Given the description of an element on the screen output the (x, y) to click on. 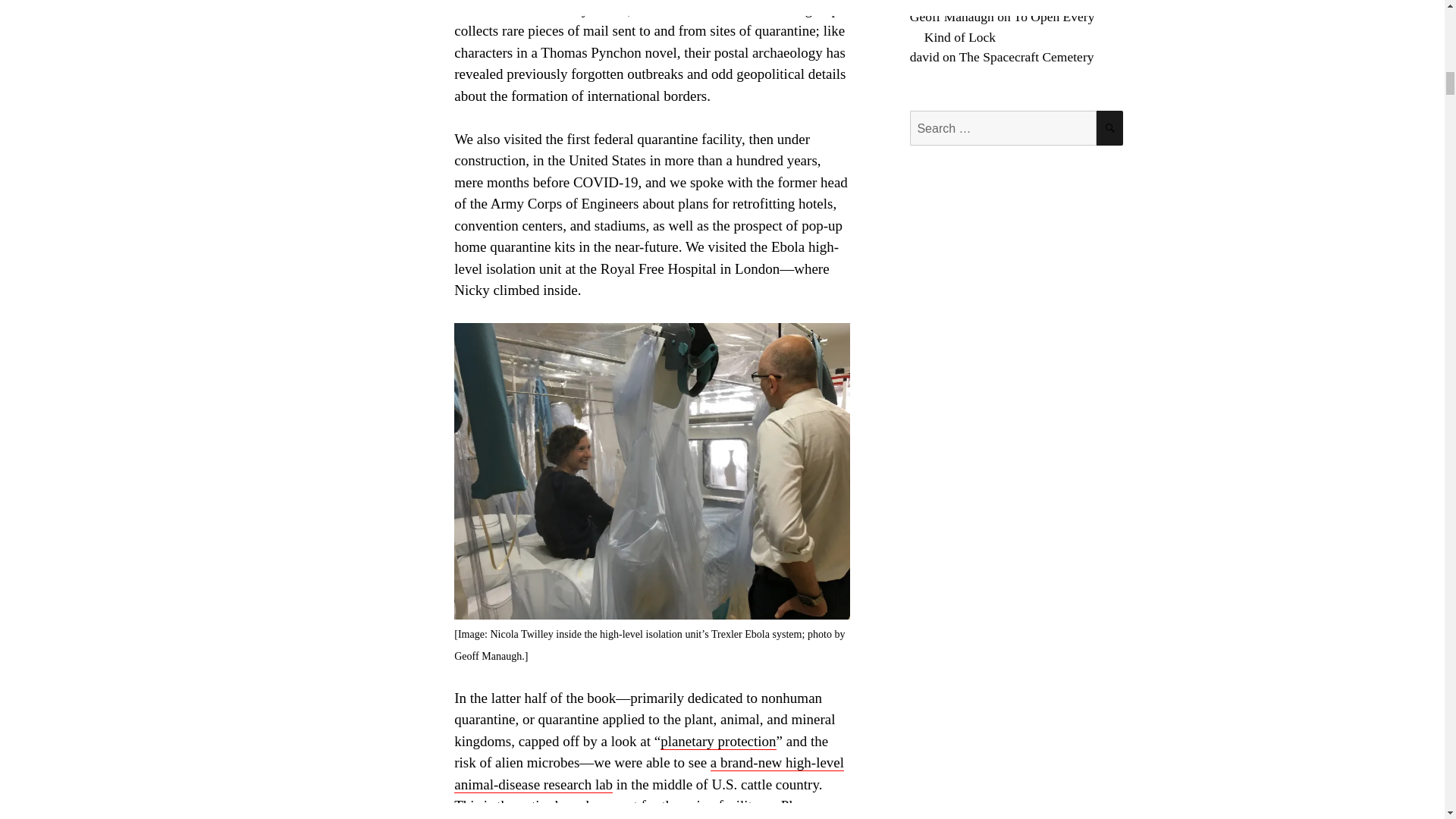
a brand-new high-level animal-disease research lab (649, 773)
planetary protection (718, 741)
